Given the description of an element on the screen output the (x, y) to click on. 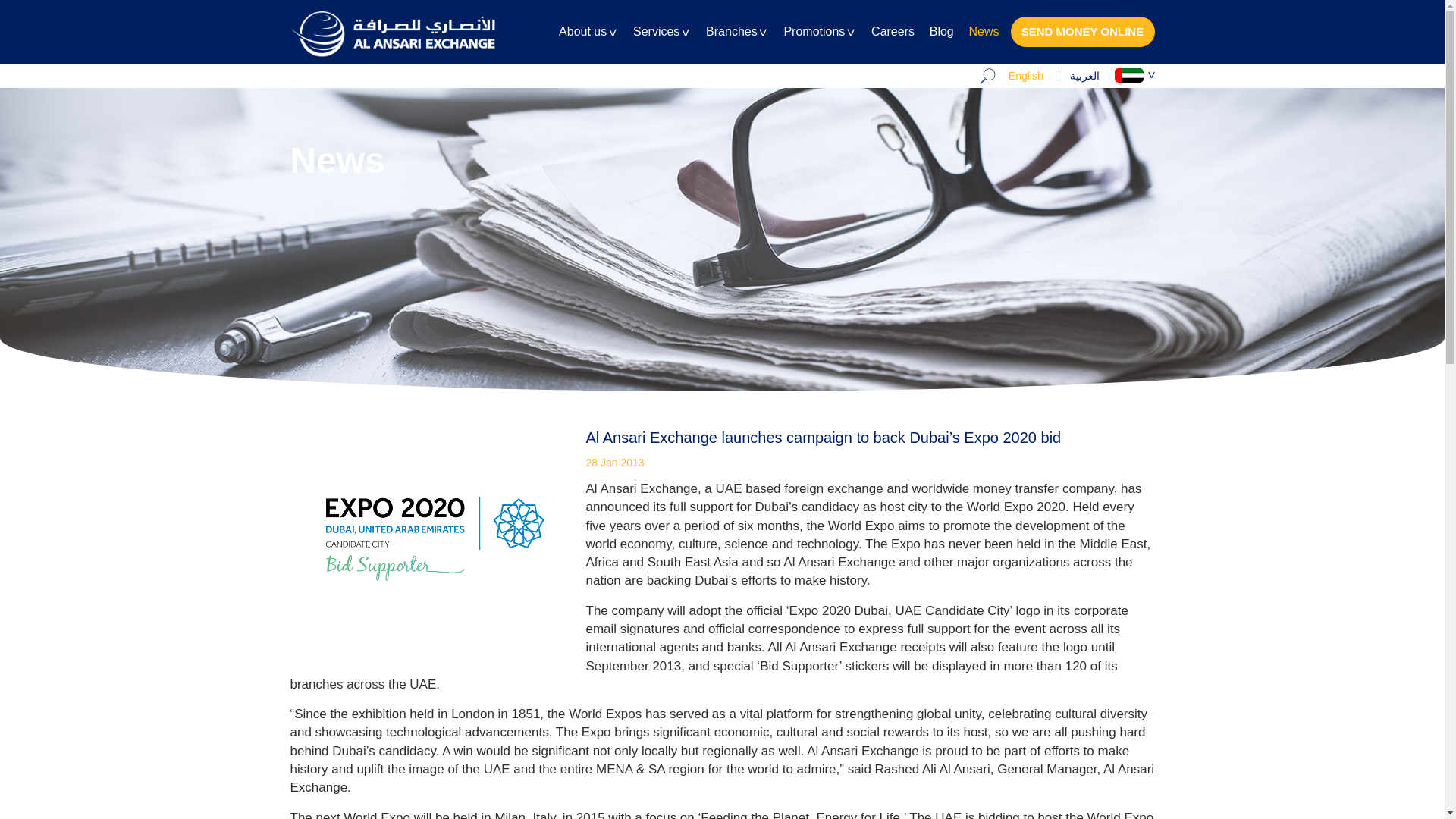
About us (588, 43)
Branches (737, 43)
Services (661, 43)
SEND MONEY ONLINE (1082, 31)
